Given the description of an element on the screen output the (x, y) to click on. 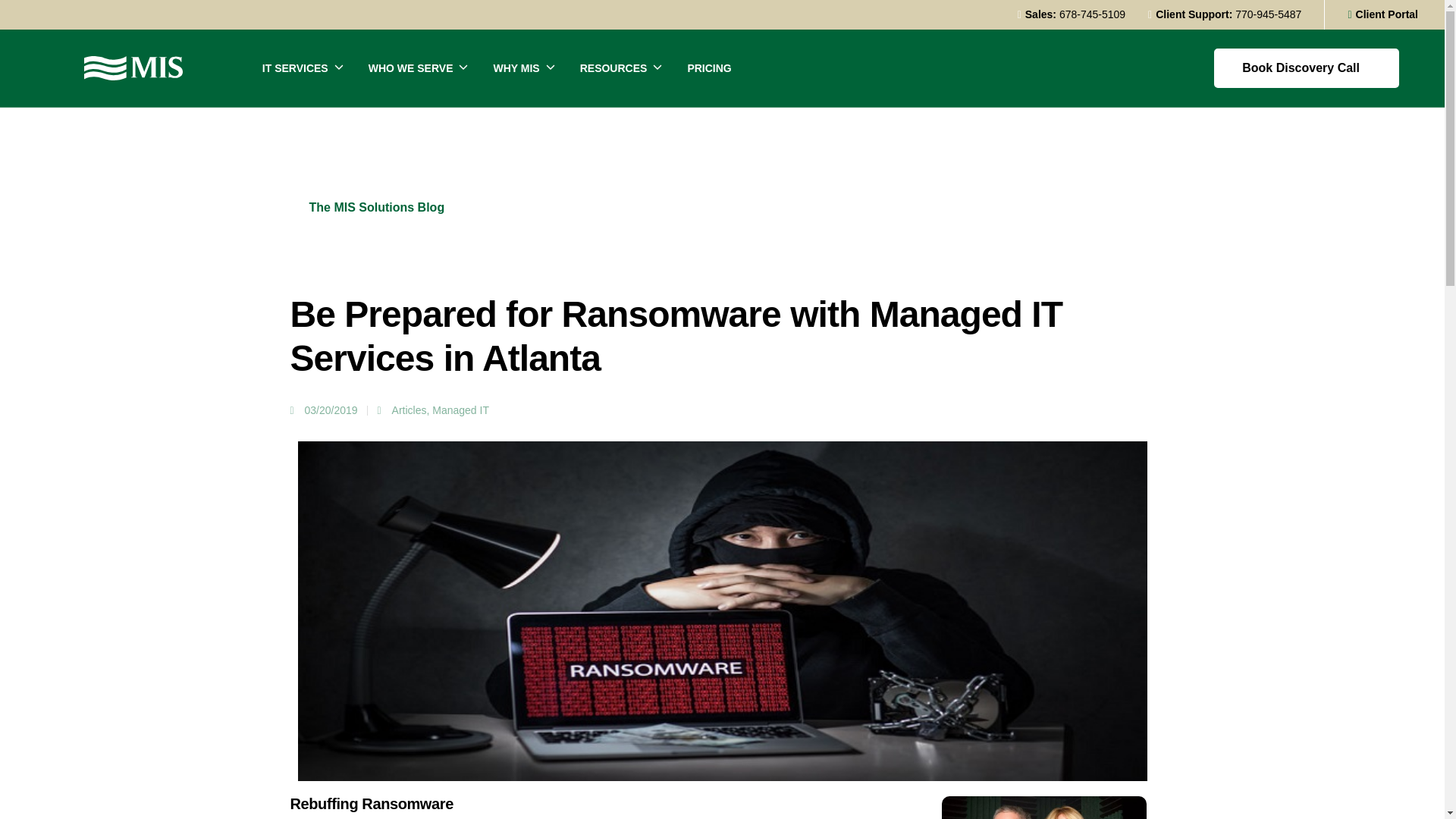
Client Support: 770-945-5487 (1225, 14)
Sales: 678-745-5109 (1071, 14)
Client Portal (1382, 14)
